Given the description of an element on the screen output the (x, y) to click on. 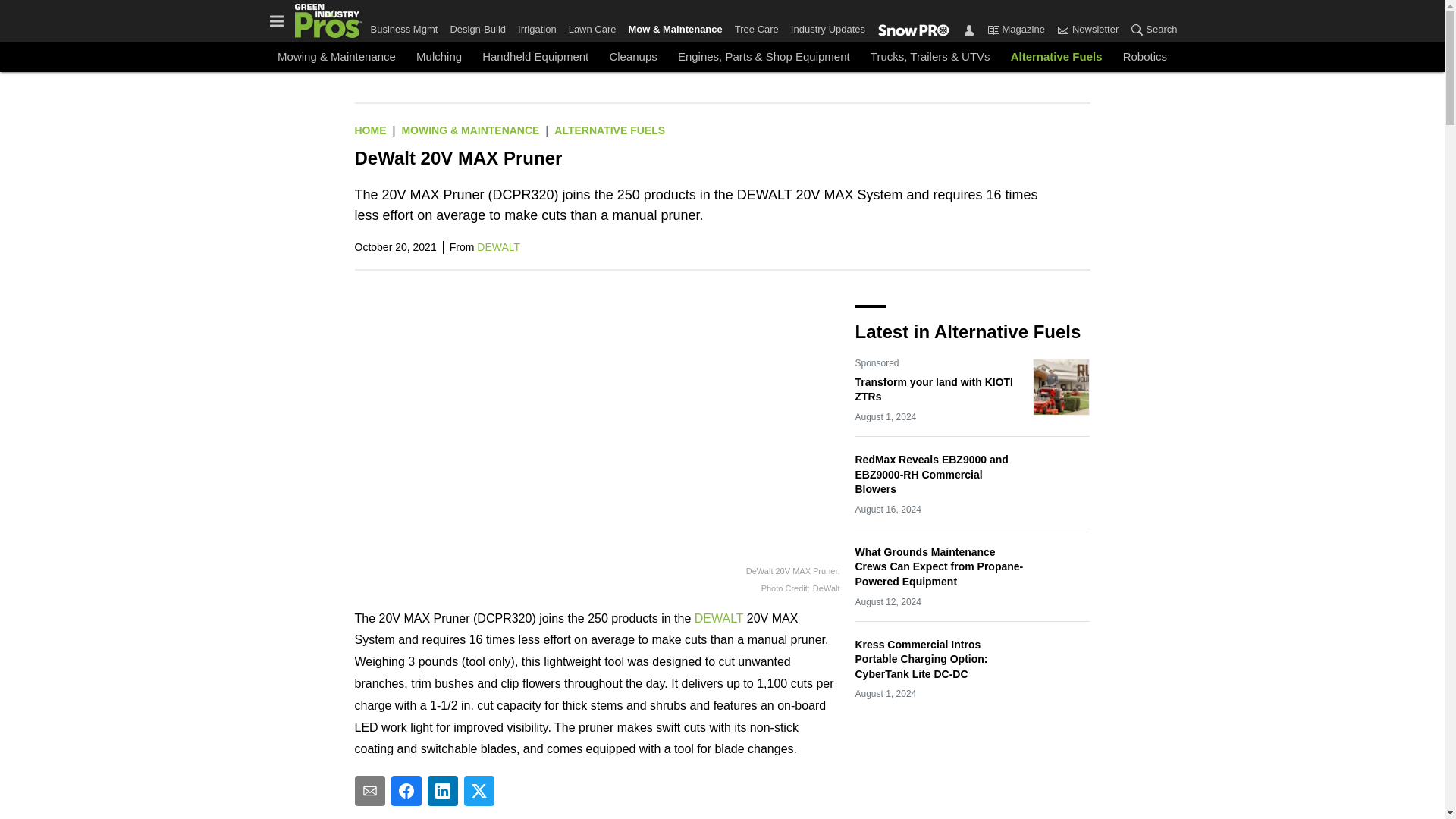
Mulching (438, 56)
Industry Updates (827, 26)
Search (1150, 29)
Magazine (1016, 29)
Search (1136, 29)
Home (371, 130)
Sign In (968, 29)
Cleanups (633, 56)
Share To email (370, 790)
Irrigation (537, 26)
